Given the description of an element on the screen output the (x, y) to click on. 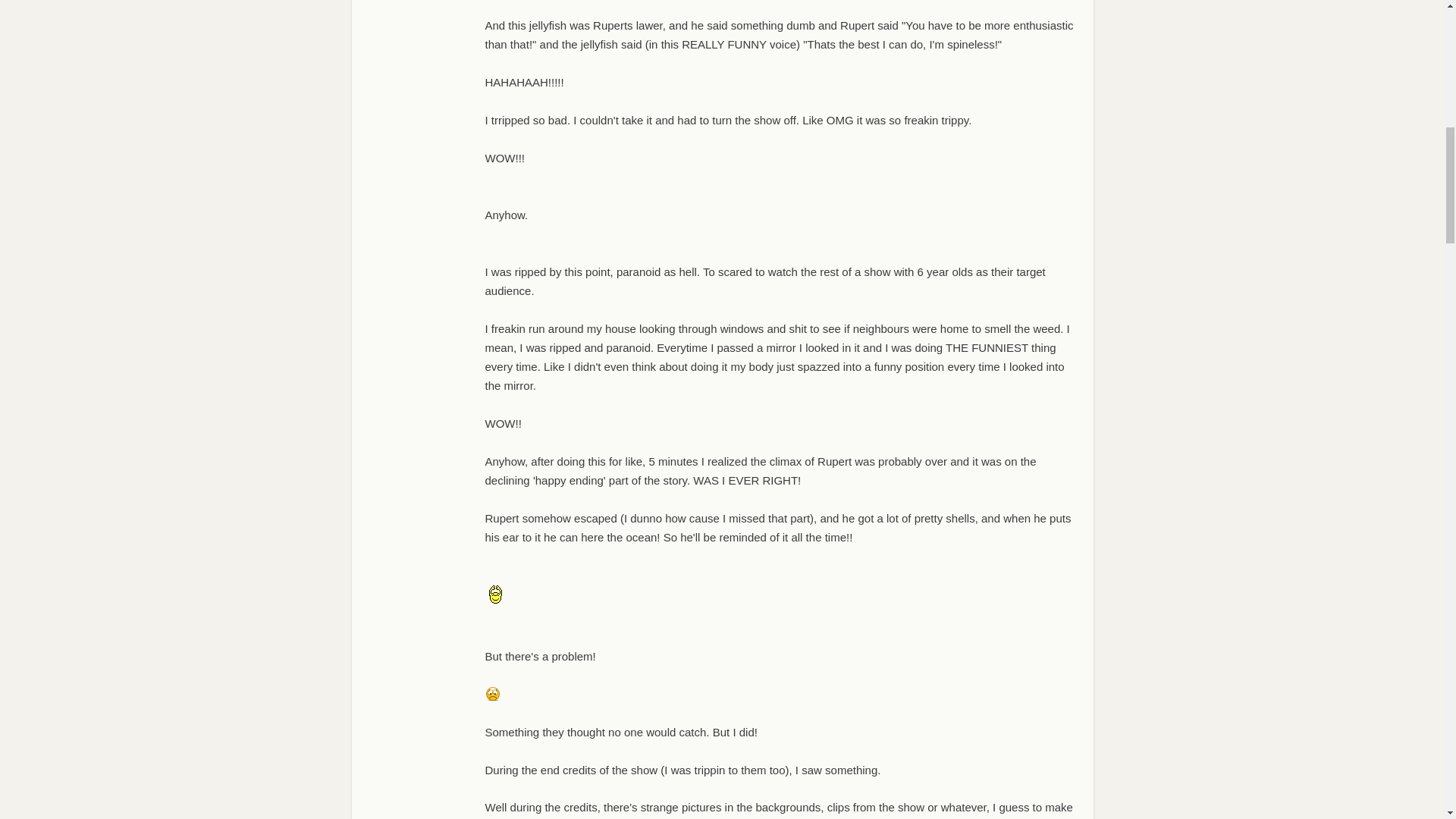
Hello    :hello: (493, 595)
